Given the description of an element on the screen output the (x, y) to click on. 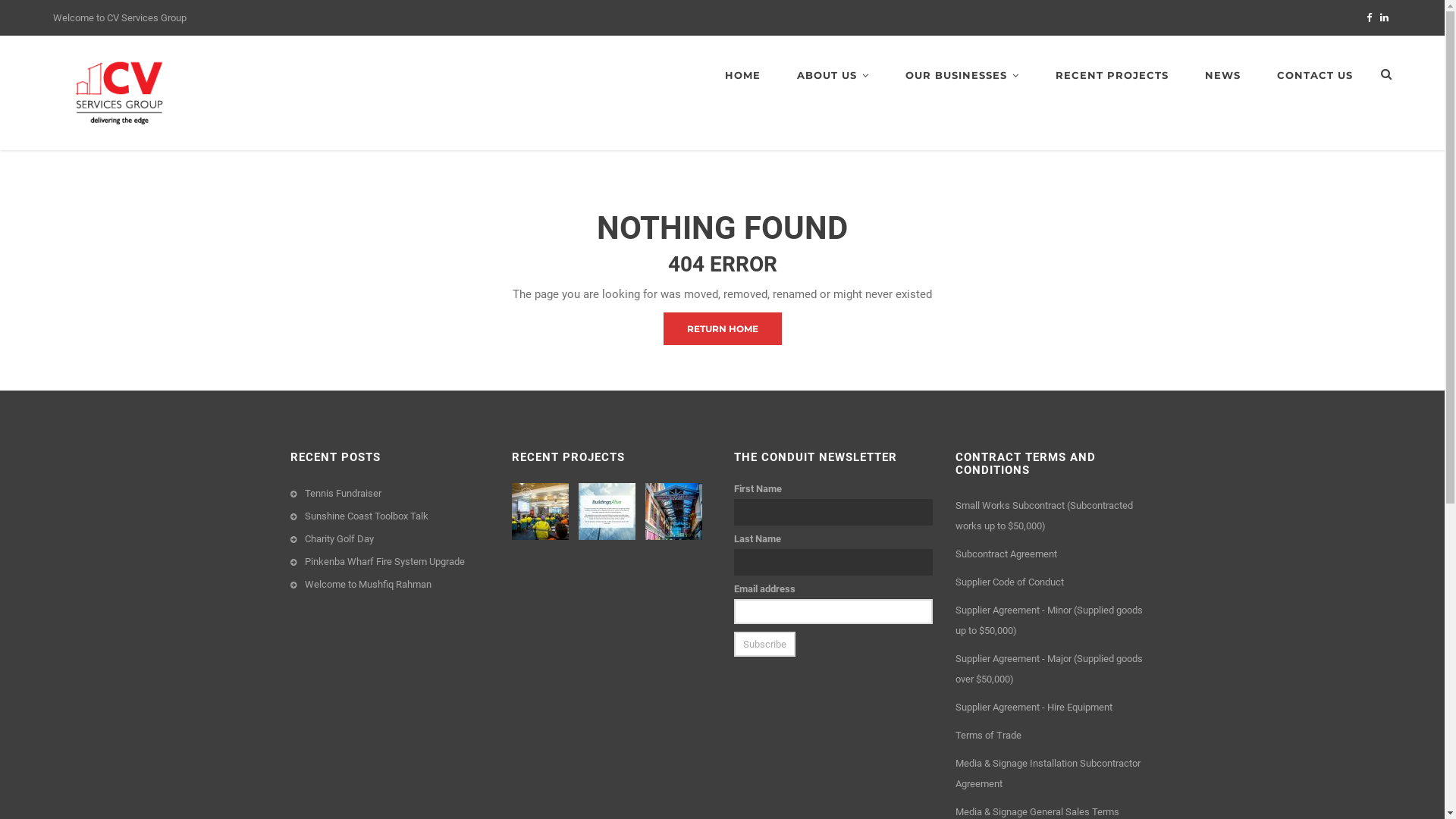
OUR BUSINESSES Element type: text (961, 75)
Sunshine Coast Toolbox Talk Element type: text (366, 515)
Media & Signage Installation Subcontractor Agreement Element type: text (1047, 773)
HOME Element type: text (742, 75)
RECENT PROJECTS Element type: text (1112, 75)
Charity Golf Day Element type: text (338, 538)
CV Services Group Element type: hover (119, 91)
Subscribe Element type: text (764, 643)
Media & Signage General Sales Terms Element type: text (1037, 811)
NEWS Element type: text (1222, 75)
Terms of Trade Element type: text (988, 734)
Subcontract Agreement Element type: text (1006, 553)
Supplier Agreement - Major (Supplied goods over $50,000) Element type: text (1048, 668)
Buildings Alive Partnership Element type: hover (608, 511)
West Village Element type: hover (675, 511)
Welcome to Mushfiq Rahman Element type: text (367, 583)
Supplier Code of Conduct Element type: text (1009, 581)
RETURN HOME Element type: text (721, 328)
Small Works Subcontract (Subcontracted works up to $50,000) Element type: text (1043, 515)
ABOUT US Element type: text (832, 75)
Pinkenba Wharf Fire System Upgrade Element type: text (384, 561)
Tennis Fundraiser Element type: text (342, 492)
Supplier Agreement - Minor (Supplied goods up to $50,000) Element type: text (1048, 620)
Supplier Agreement - Hire Equipment Element type: text (1033, 706)
CONTACT US Element type: text (1314, 75)
